Given the description of an element on the screen output the (x, y) to click on. 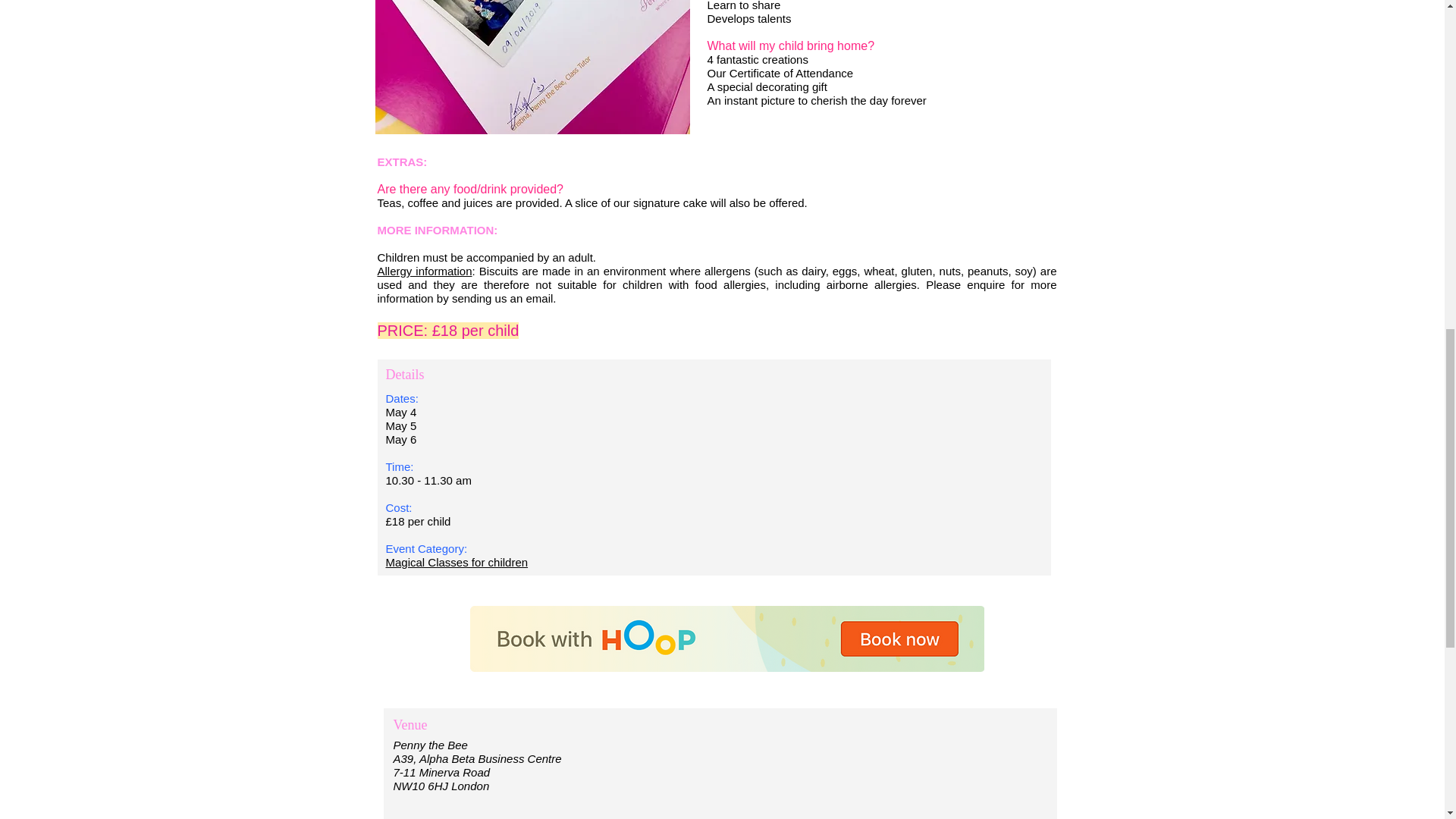
Magical Classes for children (456, 562)
